Given the description of an element on the screen output the (x, y) to click on. 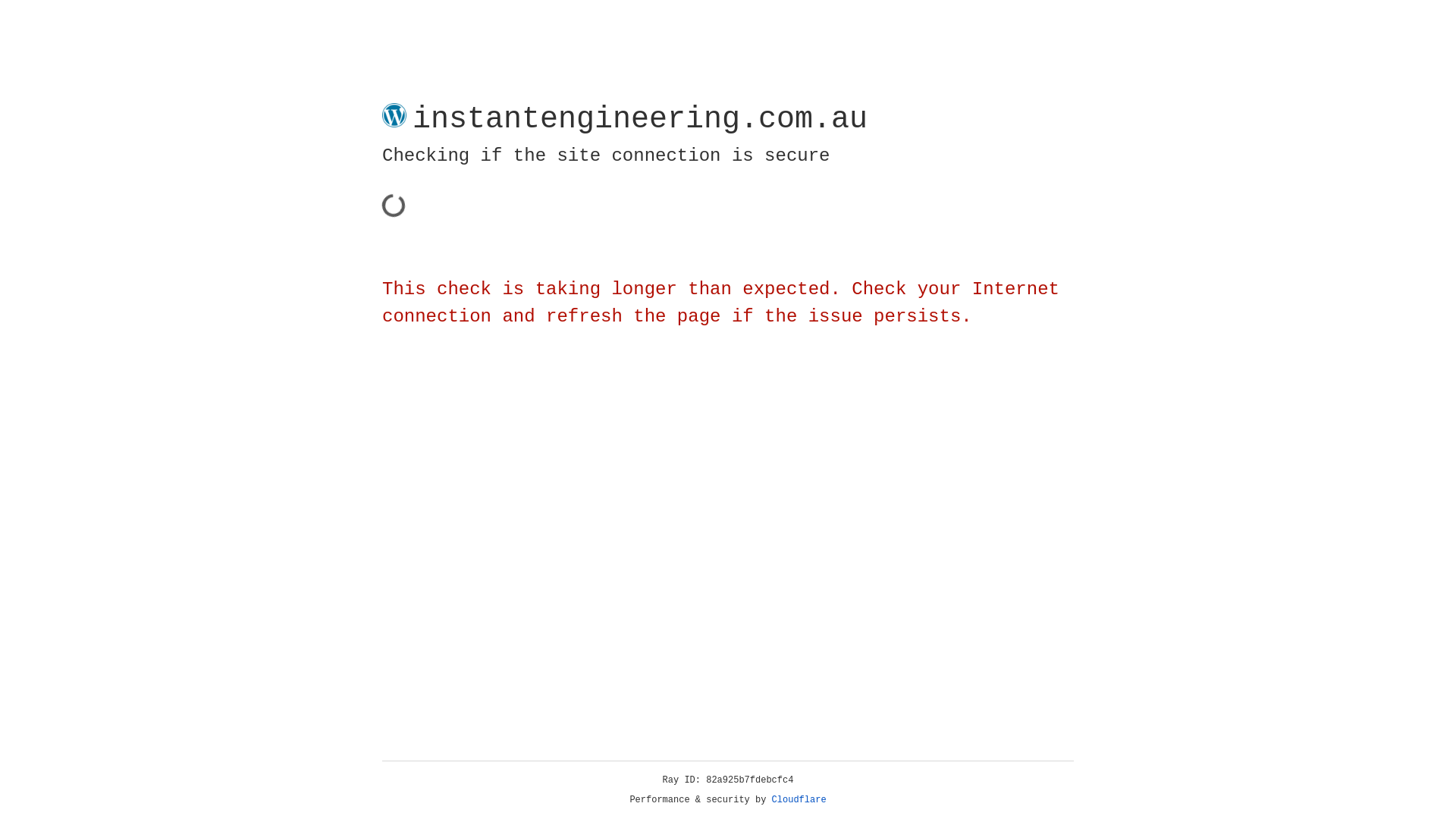
Cloudflare Element type: text (798, 799)
